Given the description of an element on the screen output the (x, y) to click on. 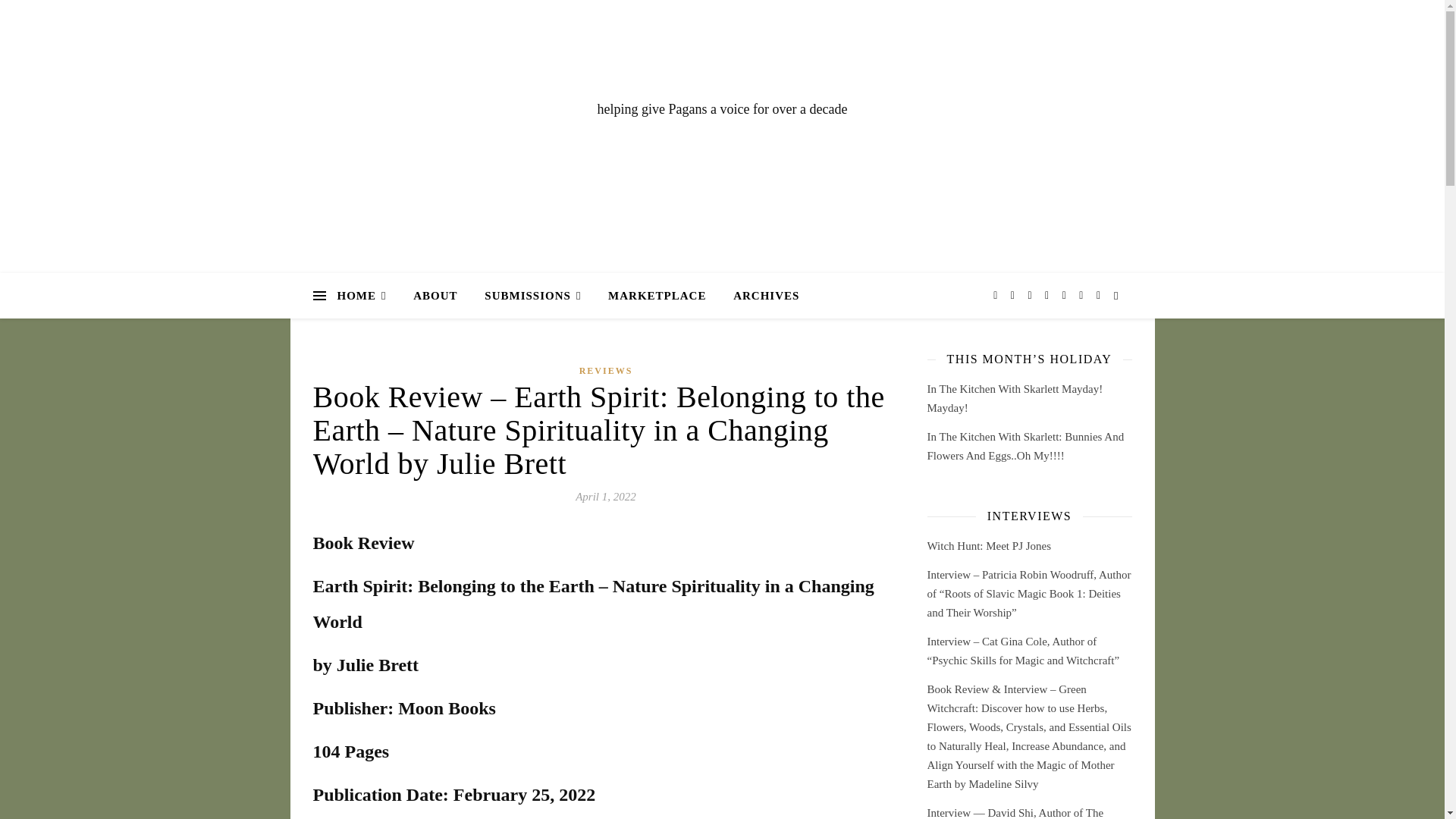
SUBMISSIONS (531, 295)
HOME (366, 295)
MARKETPLACE (656, 295)
ARCHIVES (759, 295)
ABOUT (434, 295)
